Given the description of an element on the screen output the (x, y) to click on. 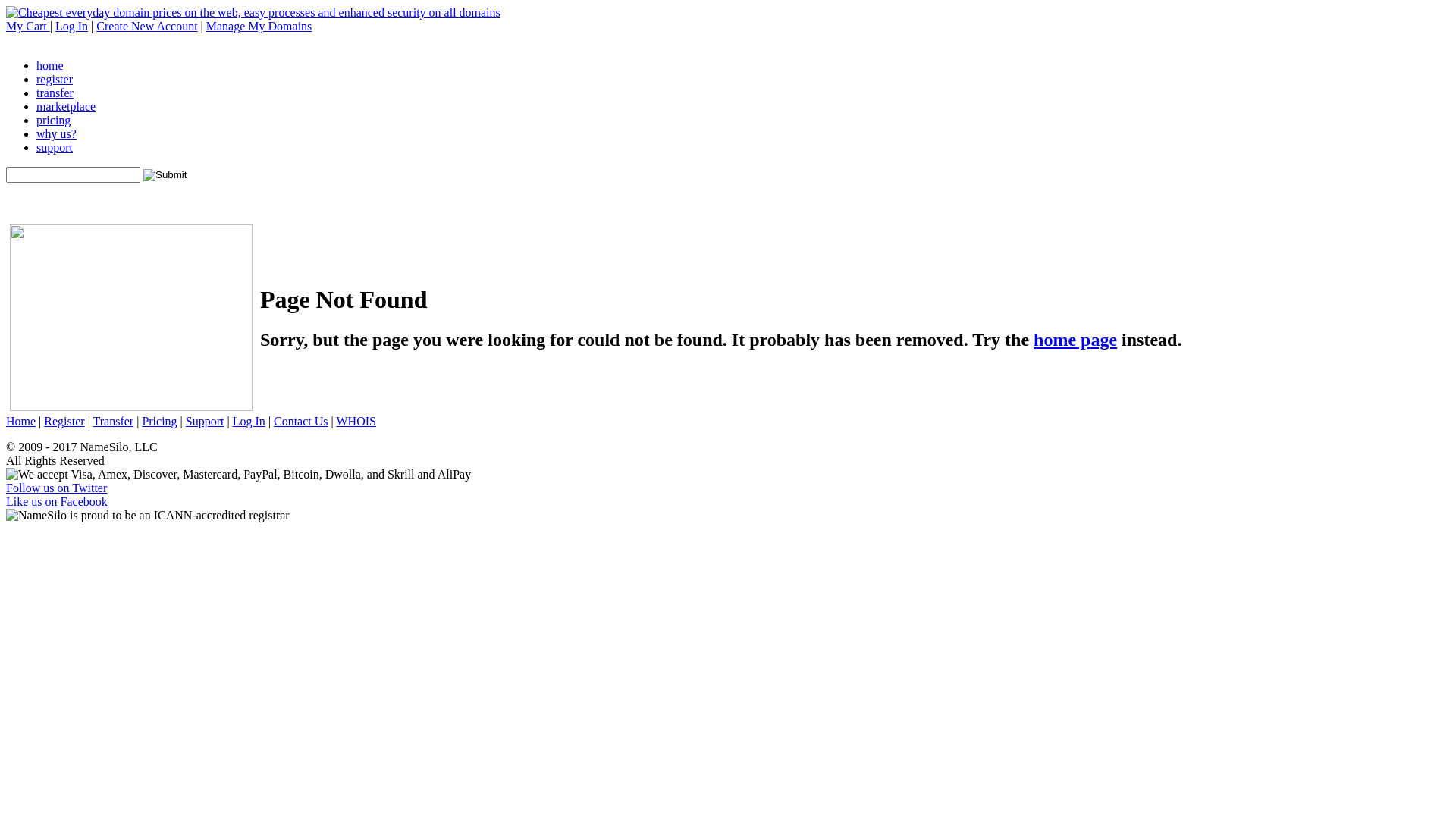
Support Element type: text (204, 420)
marketplace Element type: text (65, 106)
Home Element type: text (20, 420)
NameSilo is proud to be an ICANN-accredited registrar Element type: hover (147, 515)
Pricing Element type: text (158, 420)
Transfer Element type: text (113, 420)
why us? Element type: text (56, 133)
register Element type: text (54, 78)
transfer Element type: text (54, 92)
WHOIS Element type: text (355, 420)
Register Element type: text (63, 420)
Log In Element type: text (71, 25)
pricing Element type: text (53, 119)
Log In Element type: text (248, 420)
Contact Us Element type: text (300, 420)
Follow us on Twitter Element type: text (56, 487)
home Element type: text (49, 65)
My Cart Element type: text (28, 25)
Create New Account Element type: text (146, 25)
Manage My Domains Element type: text (259, 25)
home page Element type: text (1075, 339)
support Element type: text (54, 147)
Like us on Facebook Element type: text (56, 501)
